Given the description of an element on the screen output the (x, y) to click on. 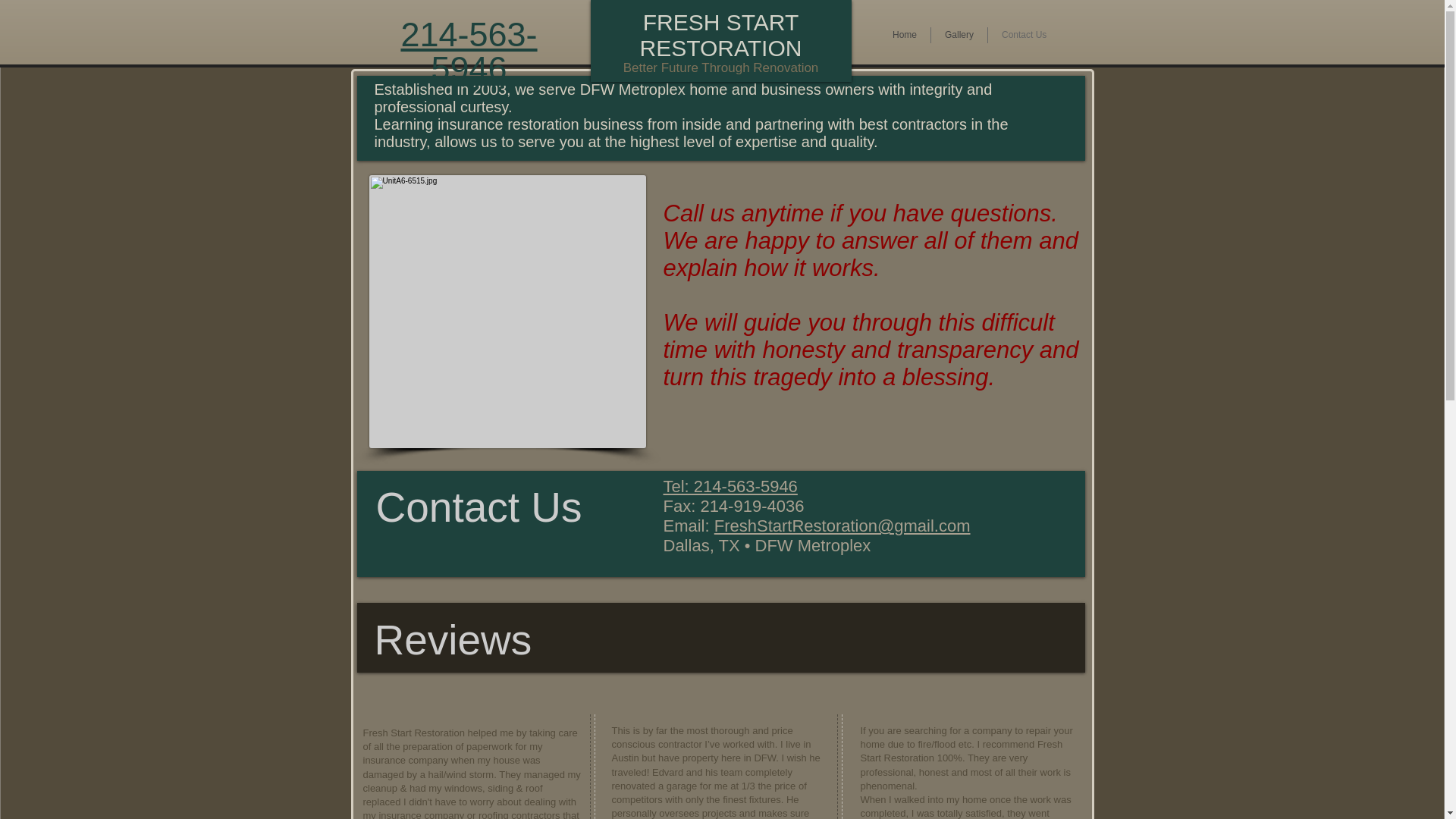
Gallery (959, 35)
Home (904, 35)
Tel: 214-563-5946 (729, 486)
214-563-5946 (468, 51)
Contact Us (1023, 35)
